Given the description of an element on the screen output the (x, y) to click on. 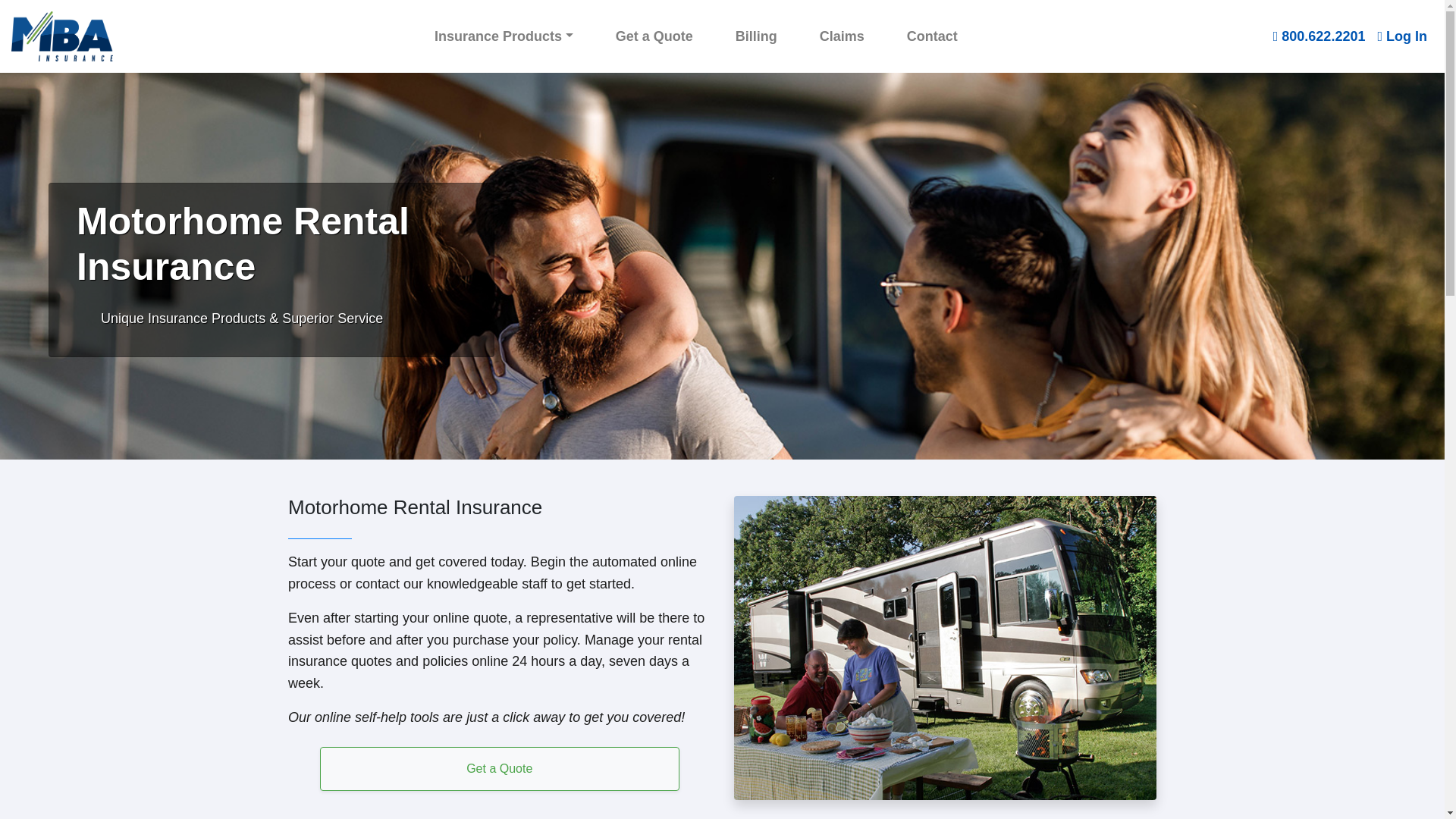
800.622.2201 (1318, 36)
Get a Quote (654, 36)
Billing (756, 36)
Contact (932, 36)
Call MBA Insurance with Google Voice (1318, 36)
Insurance Products (503, 36)
Claims (841, 36)
Log In (1401, 36)
